Given the description of an element on the screen output the (x, y) to click on. 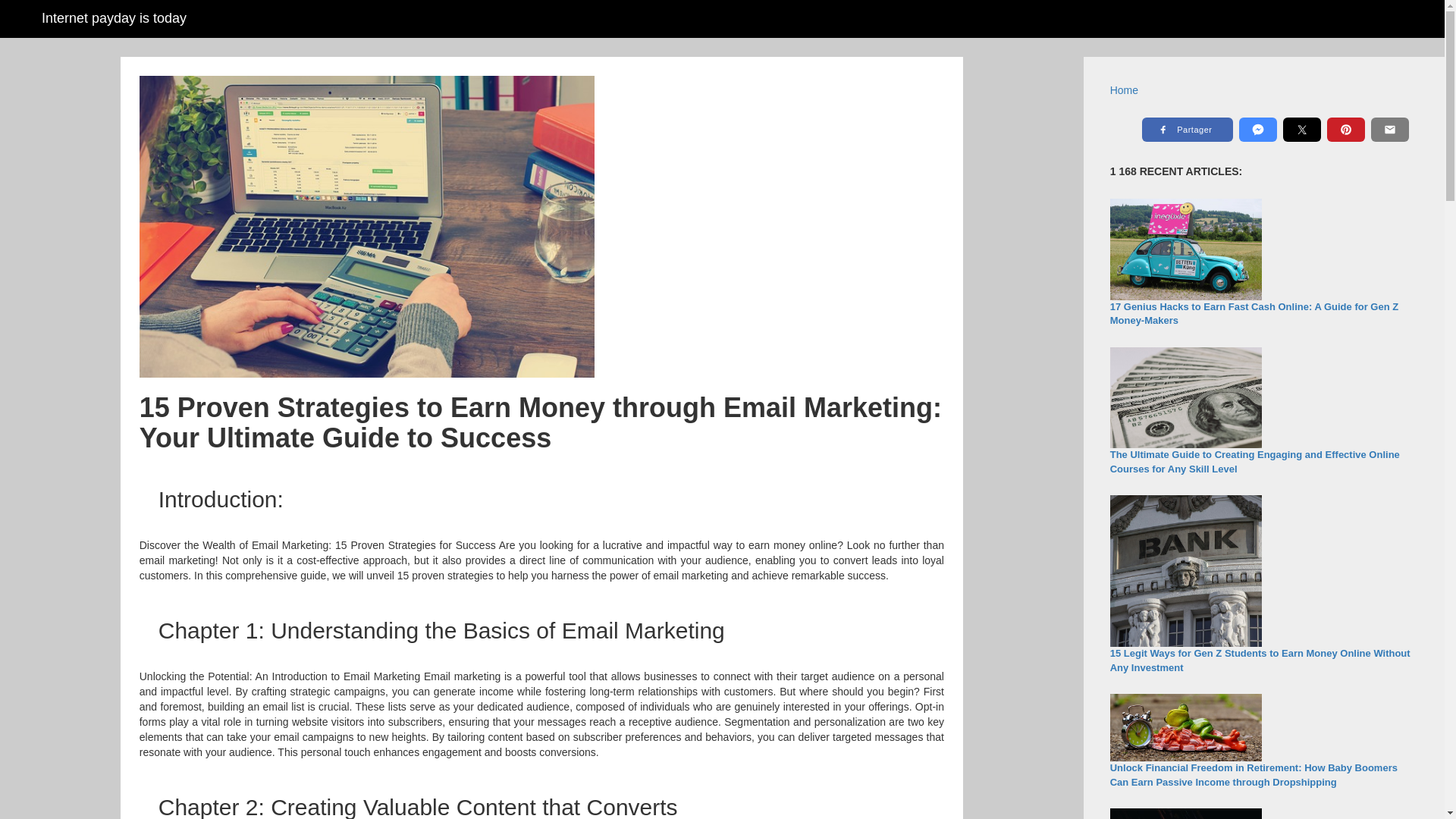
Home (1123, 90)
